Given the description of an element on the screen output the (x, y) to click on. 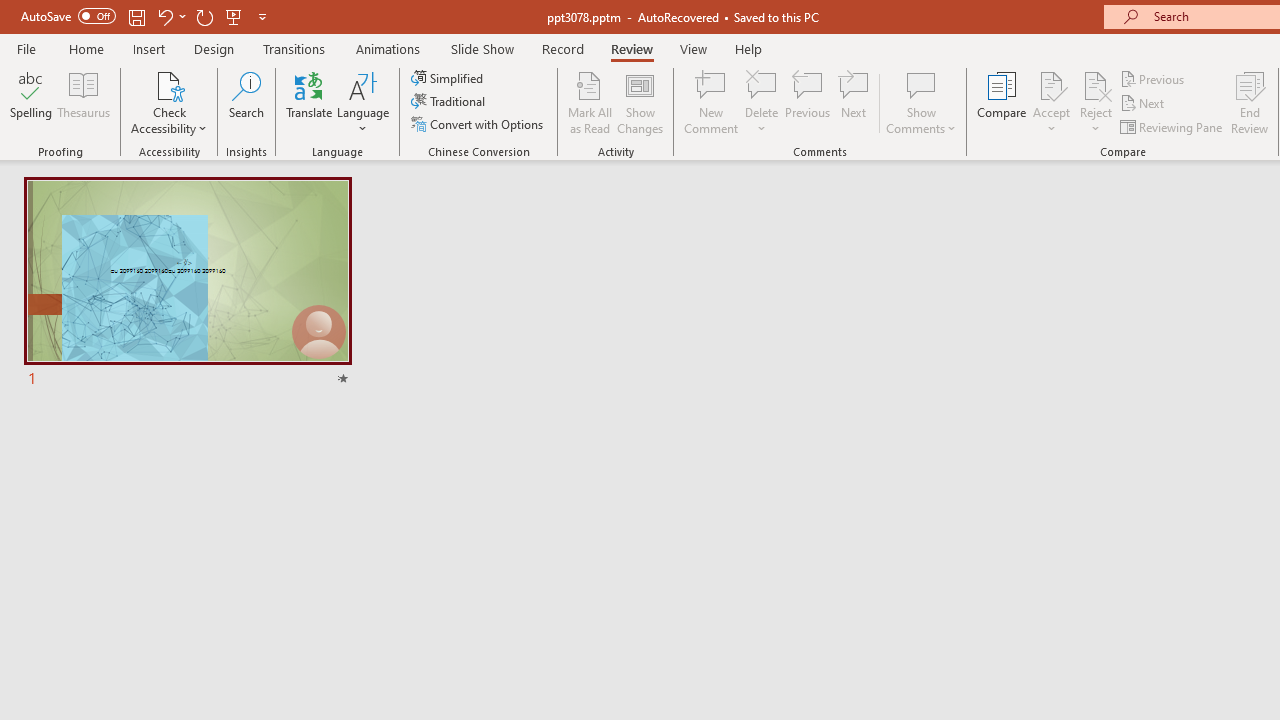
Convert with Options... (479, 124)
Language (363, 102)
Previous (1153, 78)
Next (1144, 103)
Compare (1002, 102)
Check Accessibility (169, 84)
Simplified (449, 78)
Thesaurus... (83, 102)
New Comment (711, 102)
Show Comments (921, 84)
